Given the description of an element on the screen output the (x, y) to click on. 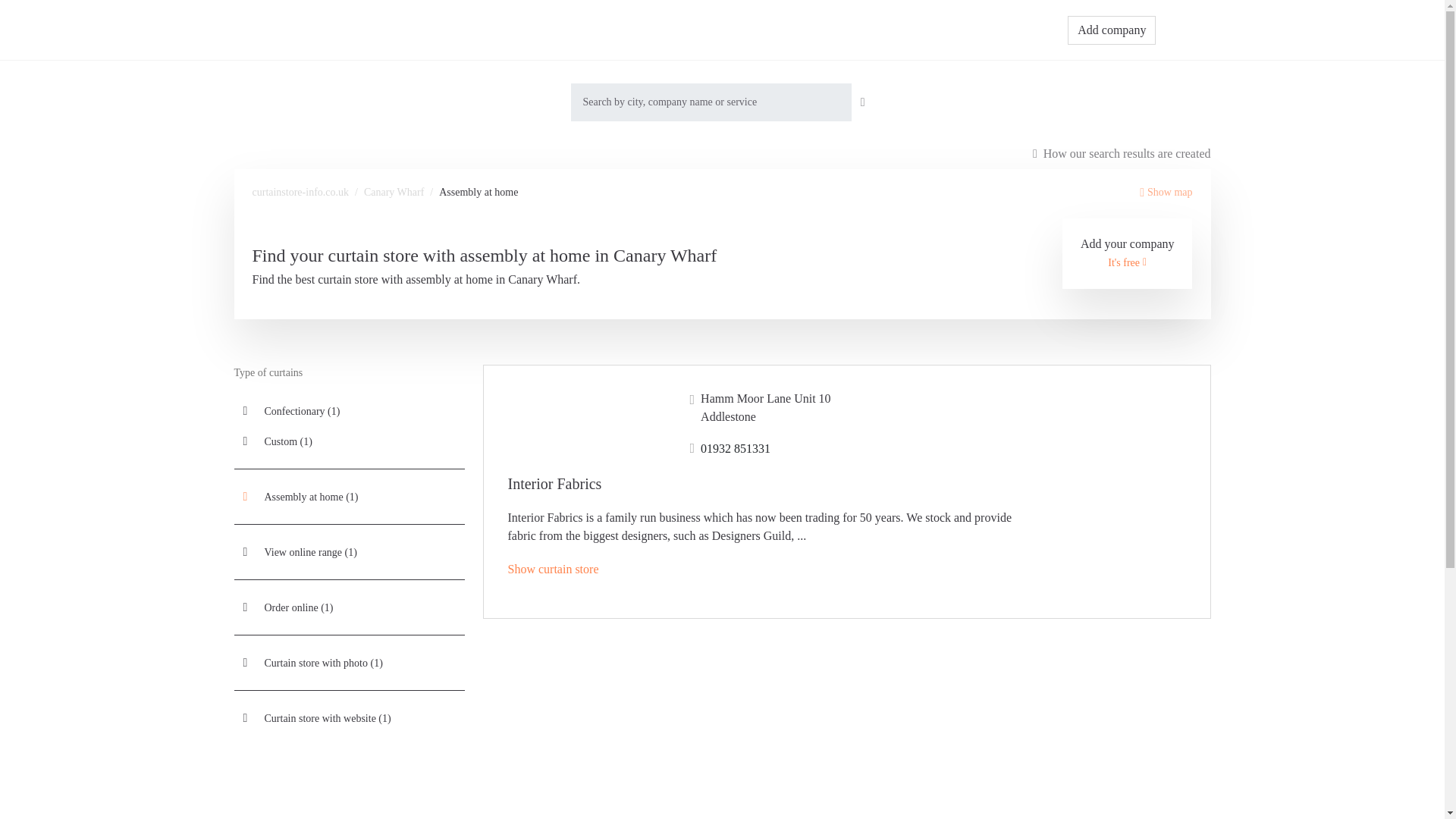
Find curtain store (740, 29)
Add company (1111, 29)
